Given the description of an element on the screen output the (x, y) to click on. 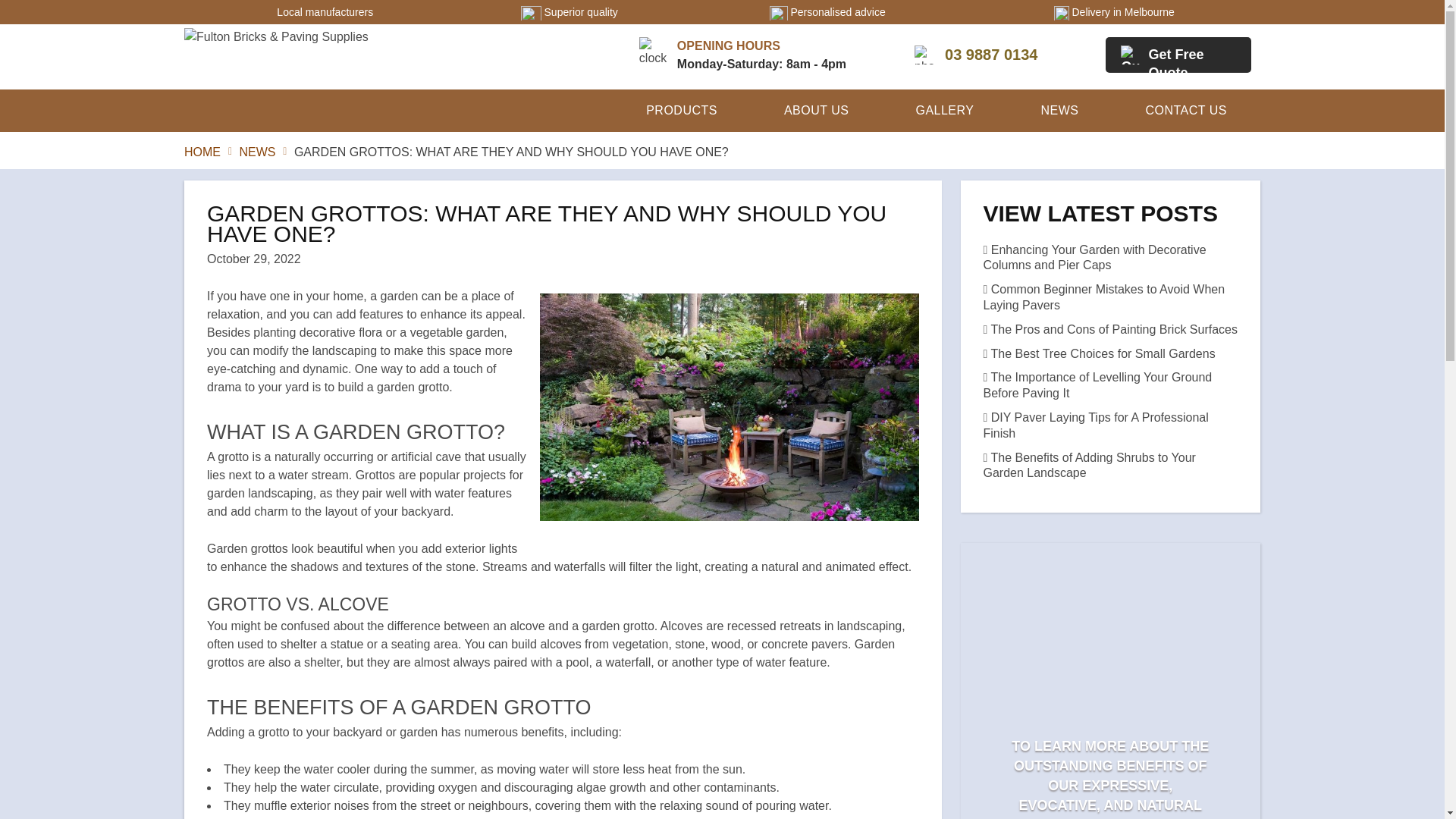
GALLERY (944, 110)
03 9887 0134 (975, 54)
CONTACT US (1185, 110)
ABOUT US (815, 110)
NEWS (1059, 110)
HOME (202, 151)
Get Free Quote (1177, 54)
PRODUCTS (682, 110)
NEWS (256, 151)
